Given the description of an element on the screen output the (x, y) to click on. 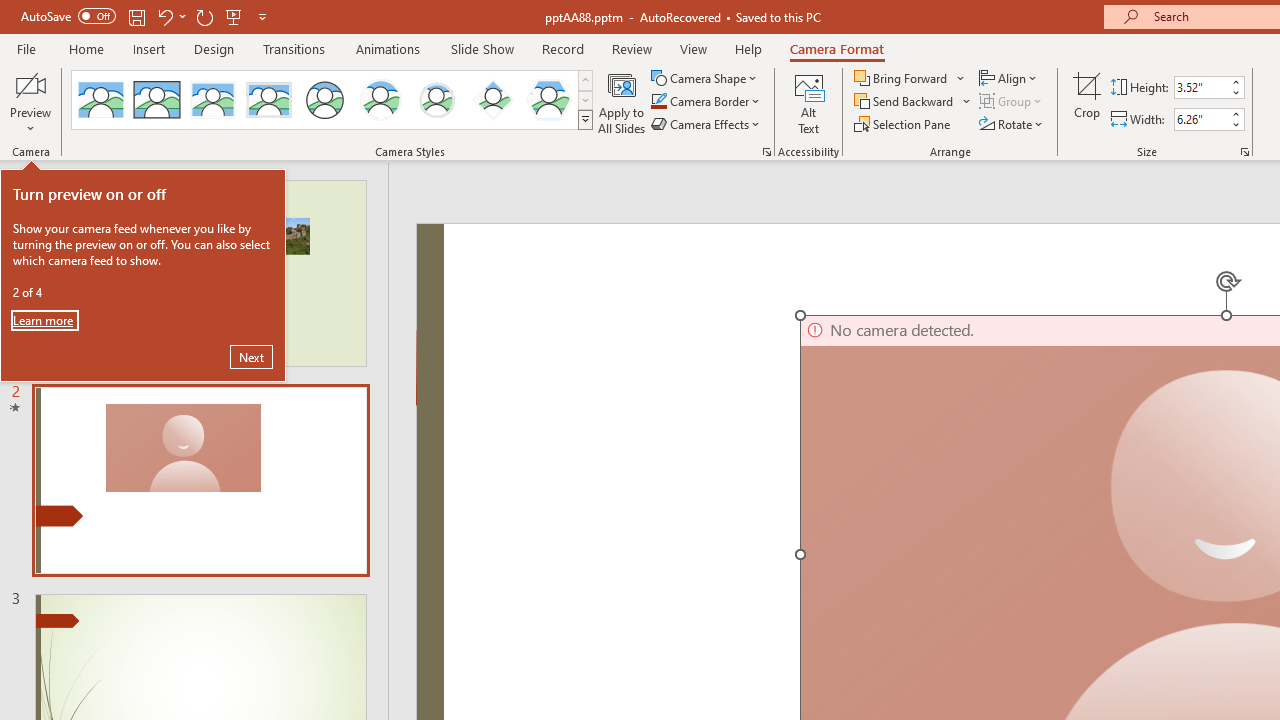
Center Shadow Diamond (492, 100)
AutomationID: CameoStylesGallery (333, 99)
Learn more (44, 320)
Align (1009, 78)
Camera Border (706, 101)
Center Shadow Rectangle (212, 100)
Send Backward (905, 101)
Center Shadow Hexagon (548, 100)
Center Shadow Circle (381, 100)
